Given the description of an element on the screen output the (x, y) to click on. 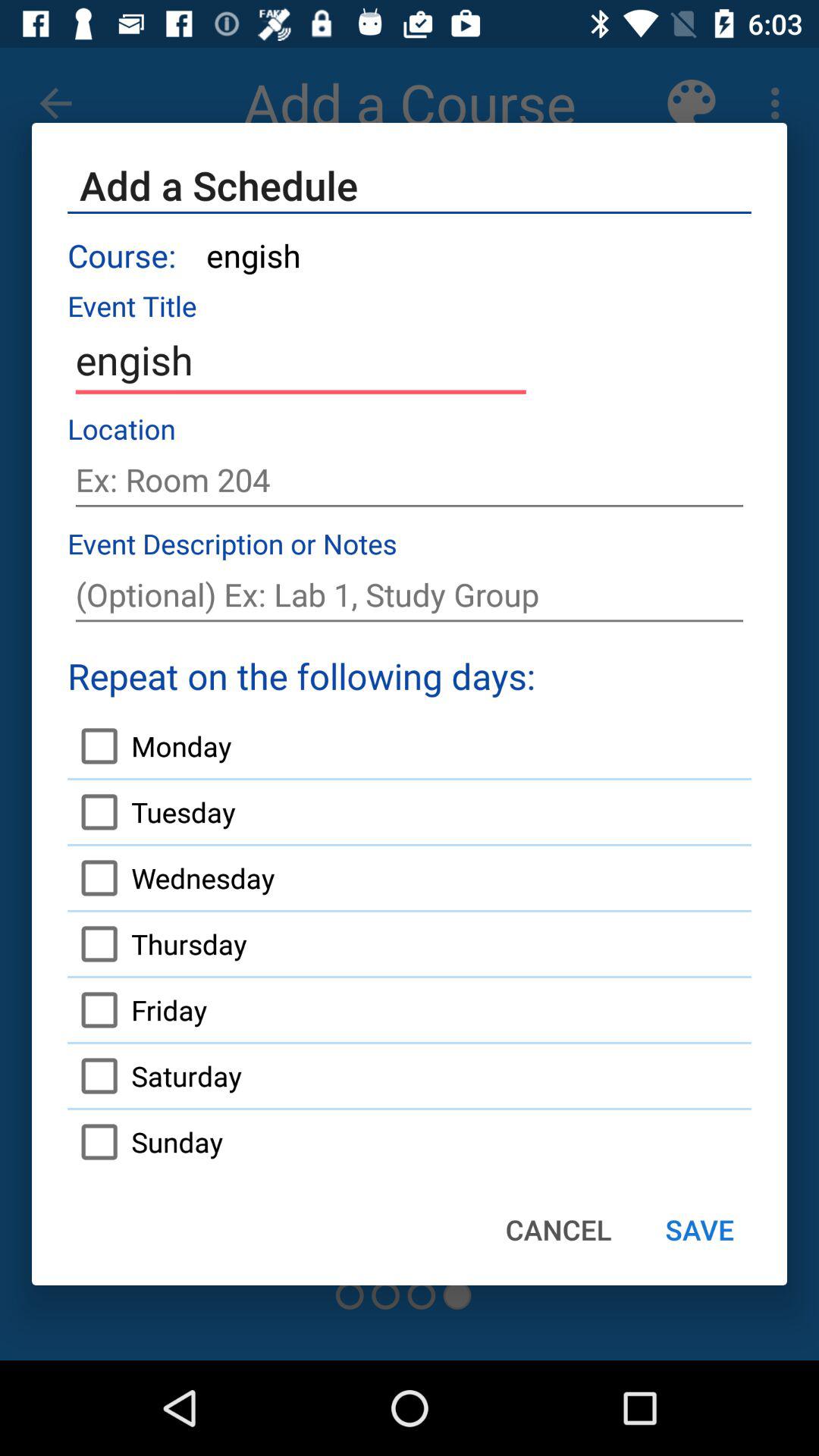
tap thursday icon (156, 943)
